Given the description of an element on the screen output the (x, y) to click on. 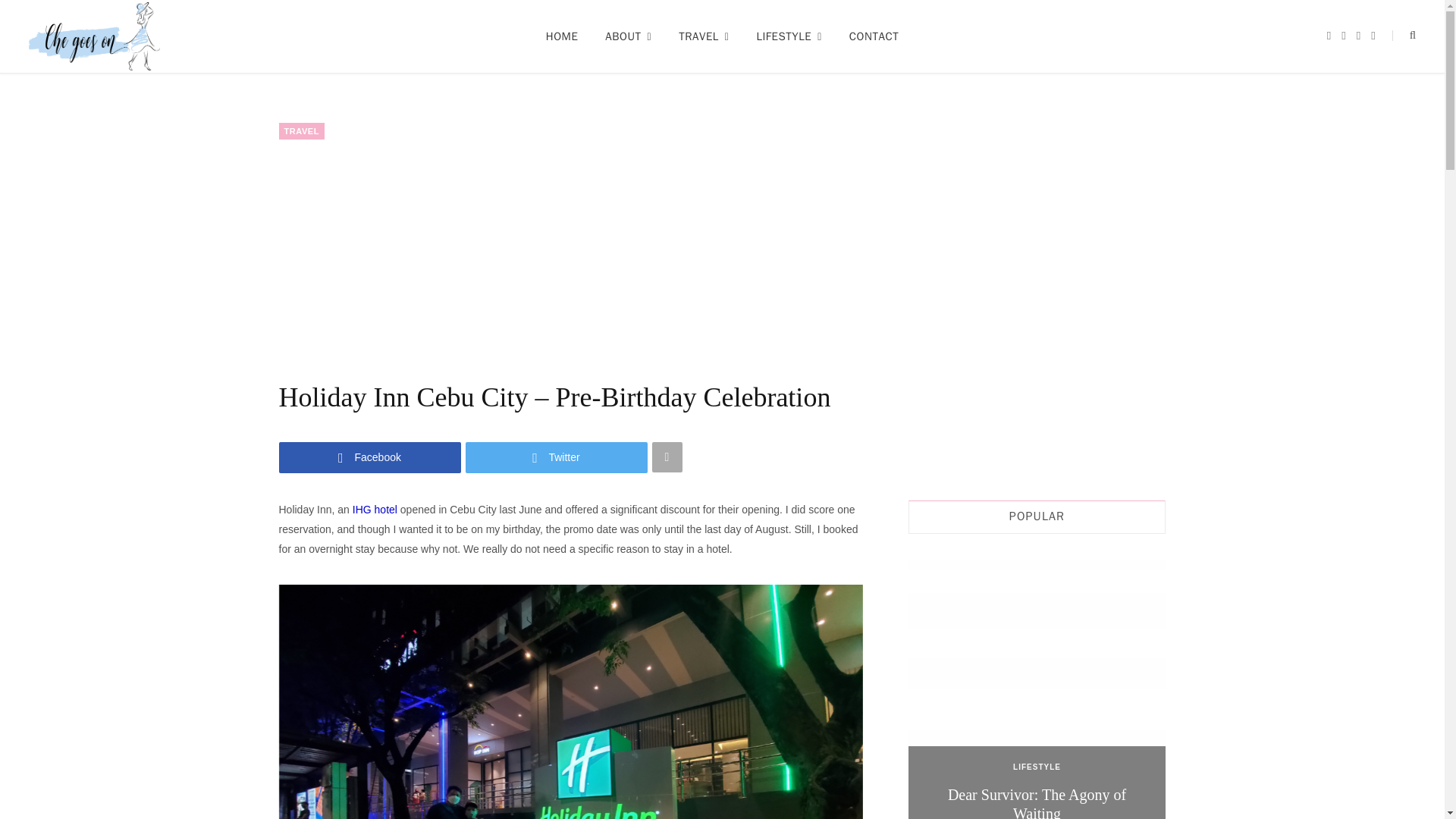
LIFESTYLE (788, 36)
ABOUT (628, 36)
CHE Goes On (94, 36)
TRAVEL (703, 36)
Facebook (370, 457)
